Given the description of an element on the screen output the (x, y) to click on. 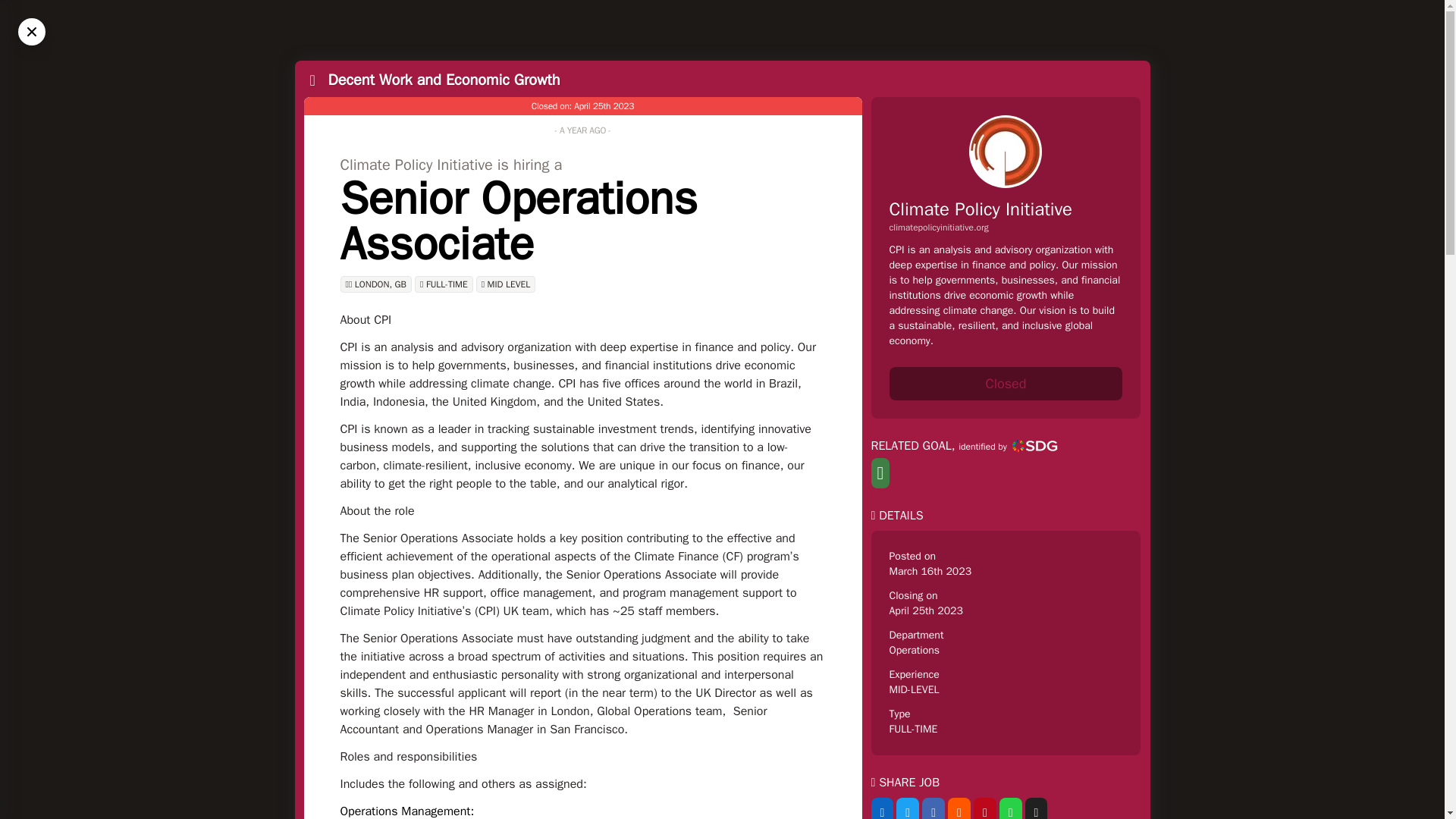
Closed (1005, 383)
climatepolicyinitiative.org (1005, 227)
Climate Policy Initiative (979, 209)
Operations (913, 649)
Decent Work and Economic Growth (443, 79)
